Given the description of an element on the screen output the (x, y) to click on. 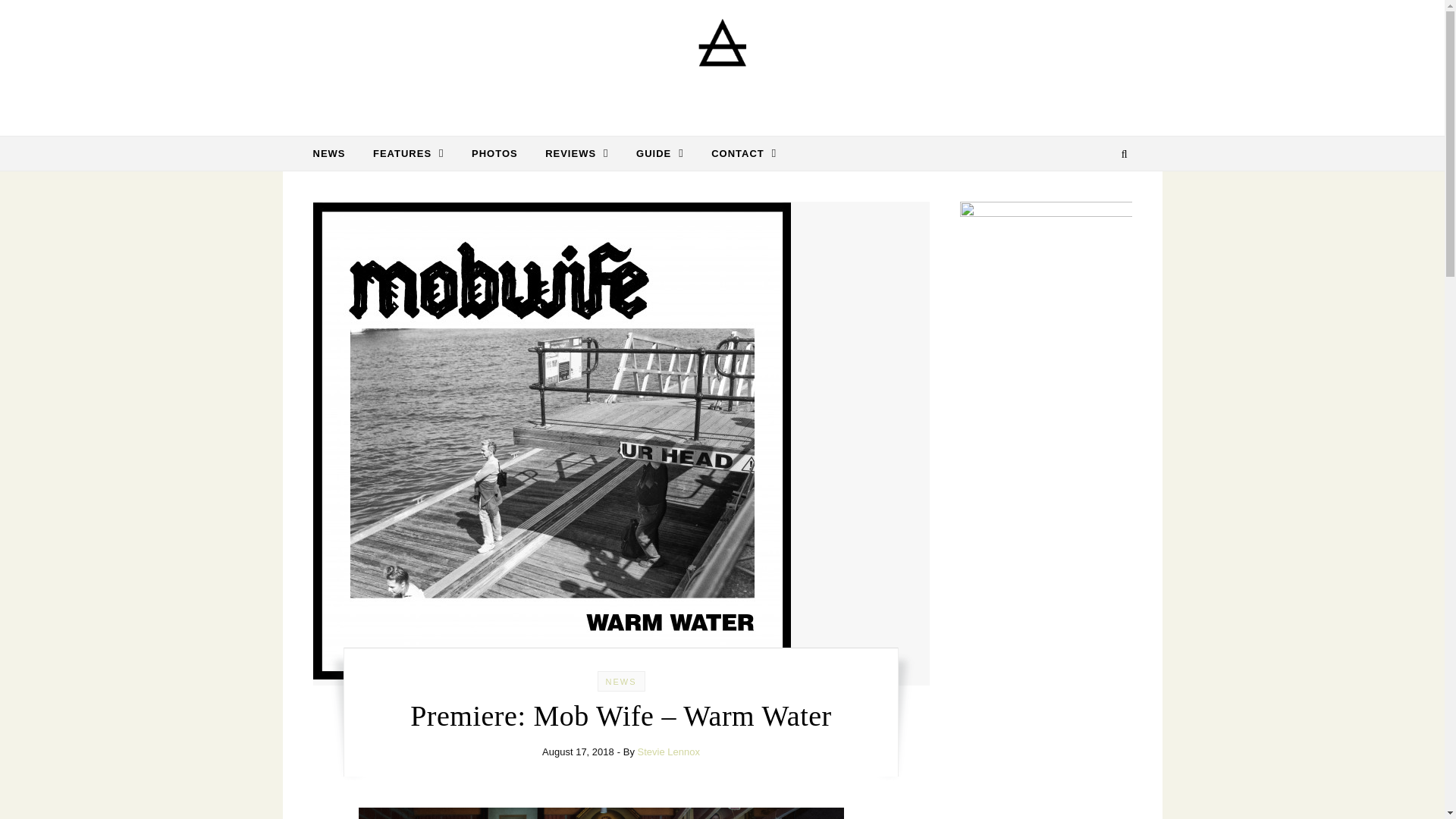
FEATURES (409, 153)
NEWS (334, 153)
CONTACT (737, 153)
The Thin Air (722, 62)
PHOTOS (494, 153)
Posts by Stevie Lennox (668, 751)
REVIEWS (576, 153)
GUIDE (659, 153)
